Given the description of an element on the screen output the (x, y) to click on. 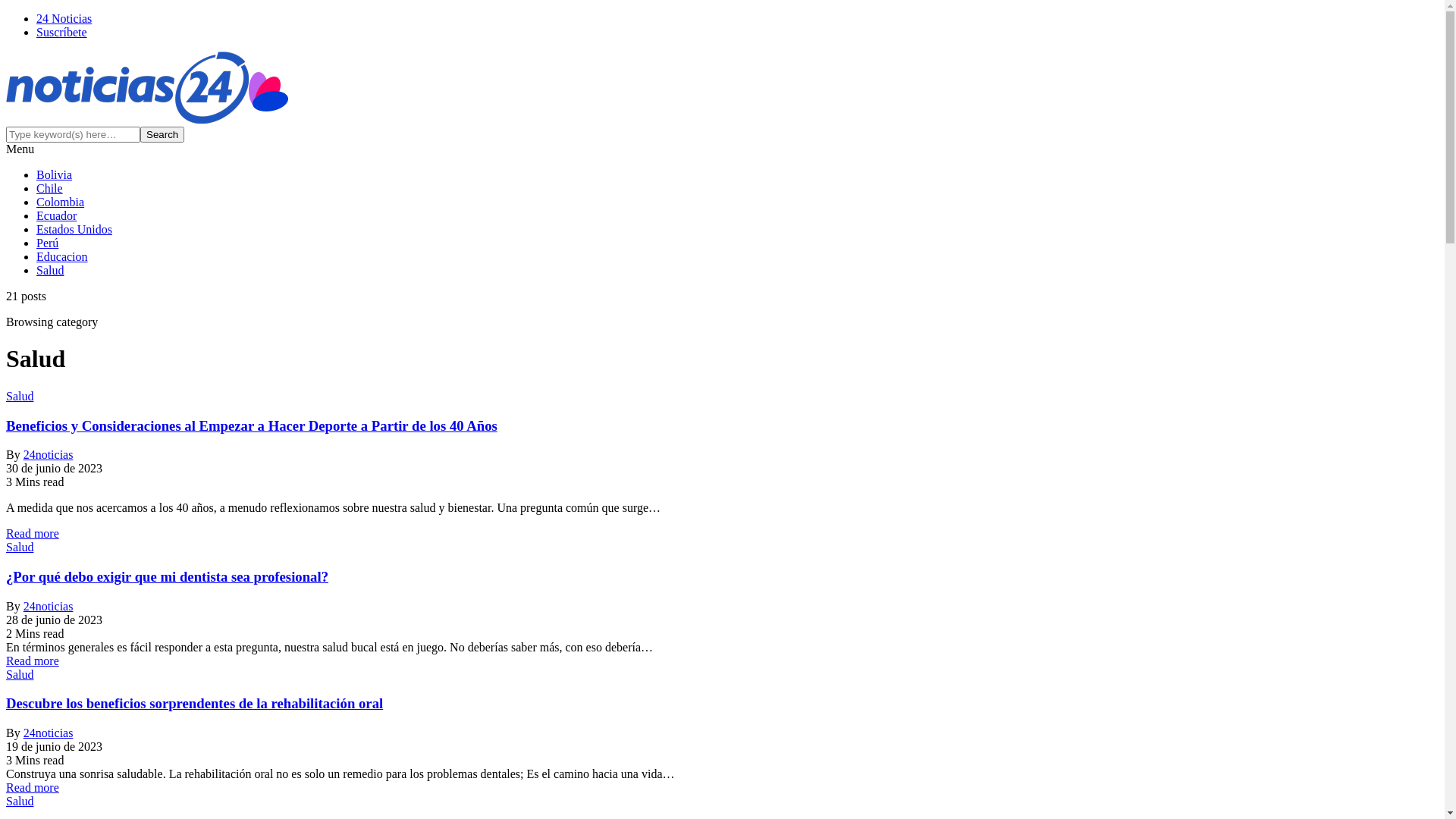
Read more Element type: text (32, 787)
Ecuador Element type: text (56, 215)
Read more Element type: text (32, 660)
Salud Element type: text (19, 546)
Salud Element type: text (19, 800)
Estados Unidos Element type: text (74, 228)
24noticias Element type: text (48, 732)
Search Element type: text (162, 134)
Salud Element type: text (49, 269)
Read more Element type: text (32, 533)
Chile Element type: text (49, 188)
Salud Element type: text (19, 395)
Salud Element type: text (19, 674)
Bolivia Element type: text (54, 174)
Colombia Element type: text (60, 201)
24 Noticias Element type: text (63, 18)
Educacion Element type: text (61, 256)
24noticias Element type: text (48, 605)
24noticias Element type: text (48, 454)
